Given the description of an element on the screen output the (x, y) to click on. 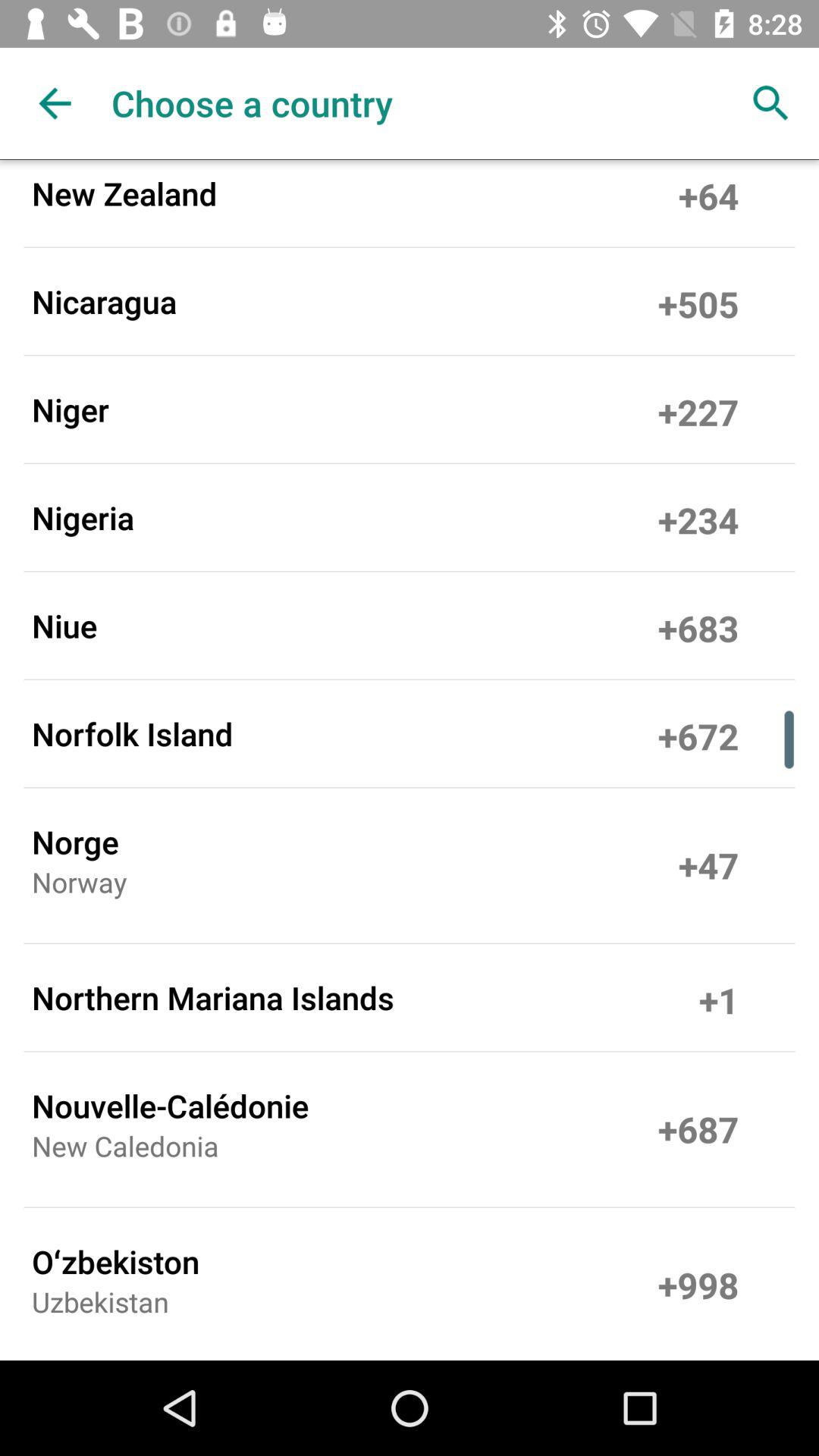
click the icon to the left of choose a country icon (55, 103)
